Given the description of an element on the screen output the (x, y) to click on. 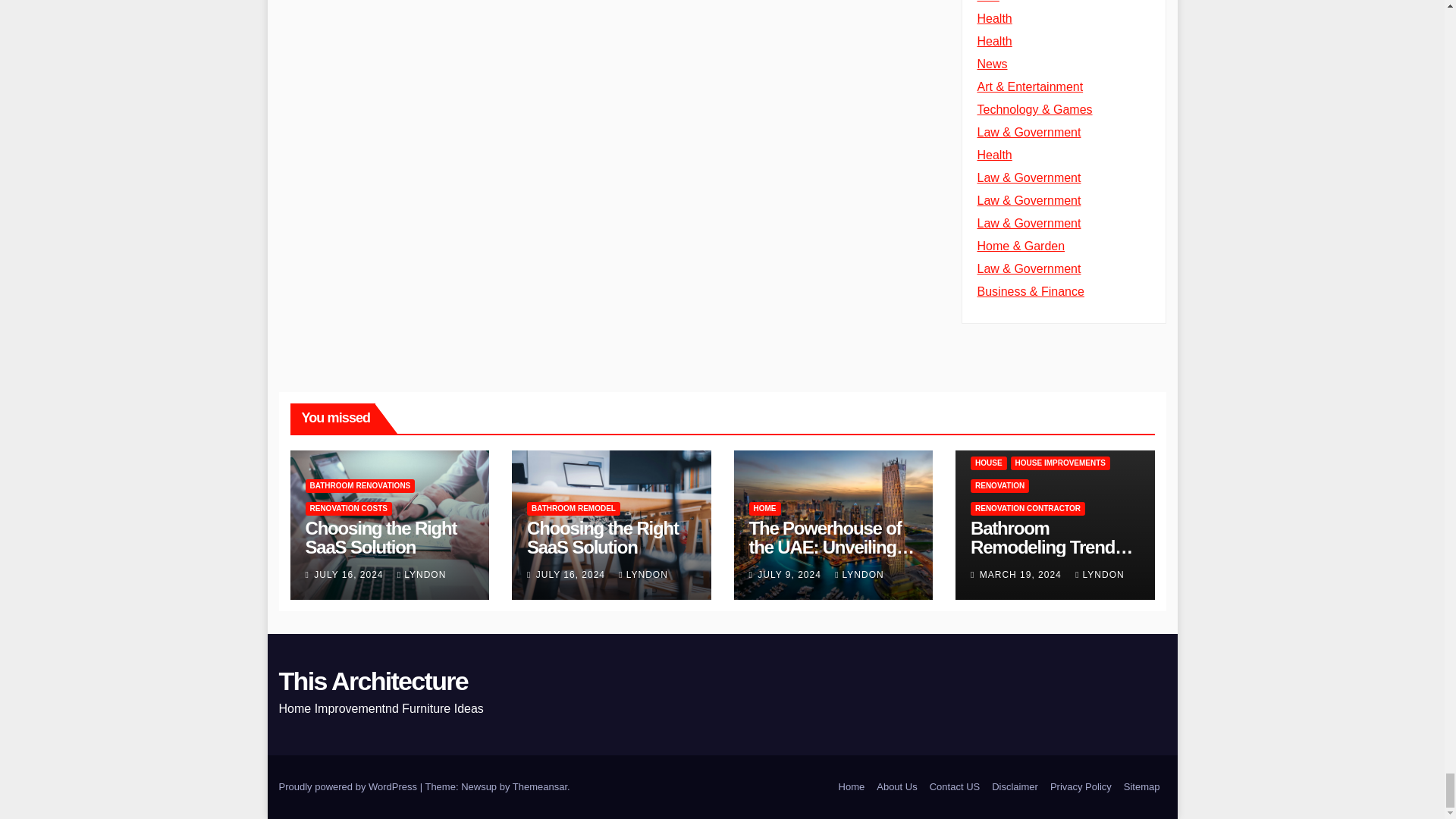
Permalink to: Choosing the Right SaaS Solution (602, 537)
Home (851, 786)
Permalink to: Choosing the Right SaaS Solution (380, 537)
